Given the description of an element on the screen output the (x, y) to click on. 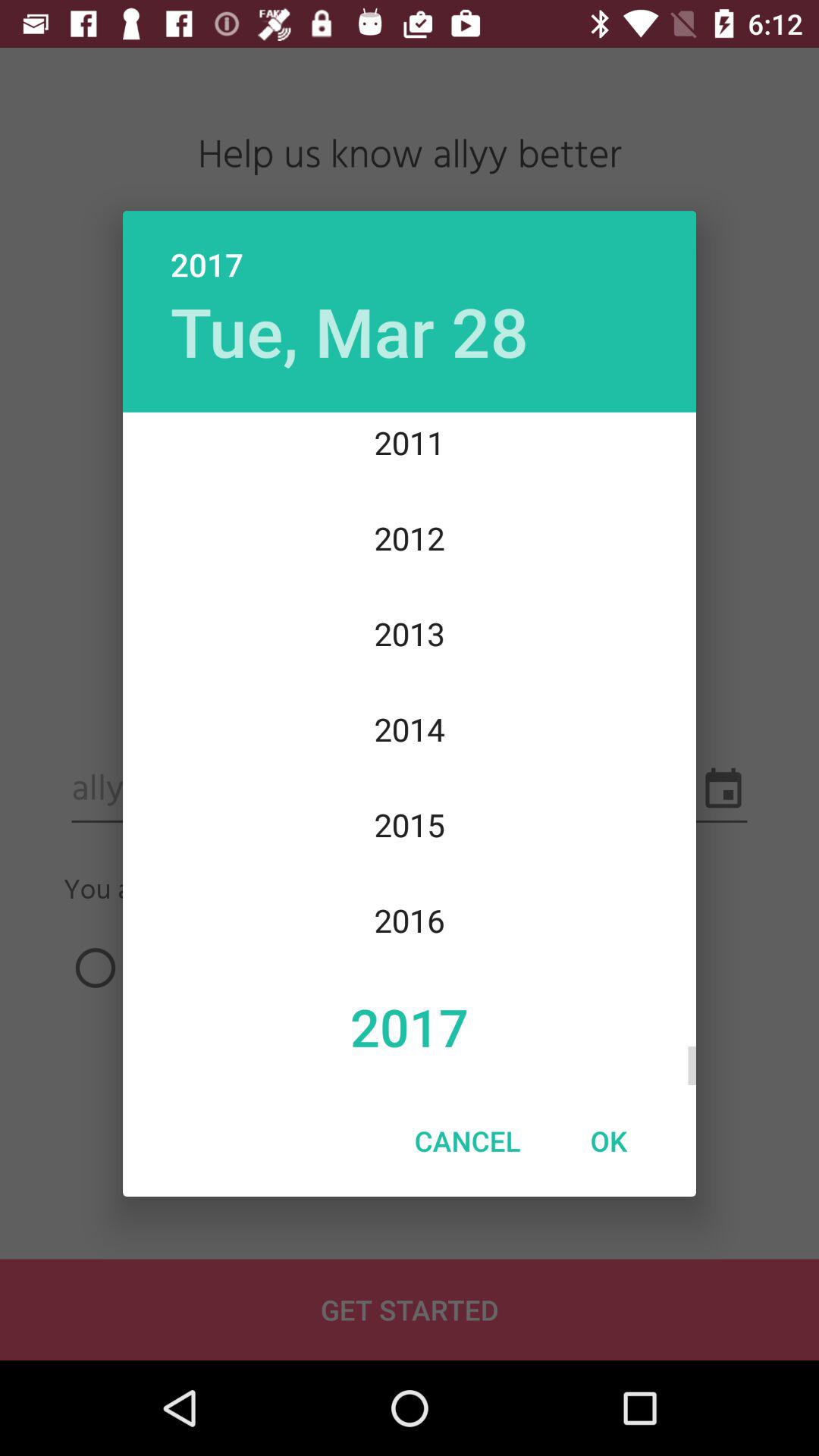
click the cancel icon (467, 1140)
